Given the description of an element on the screen output the (x, y) to click on. 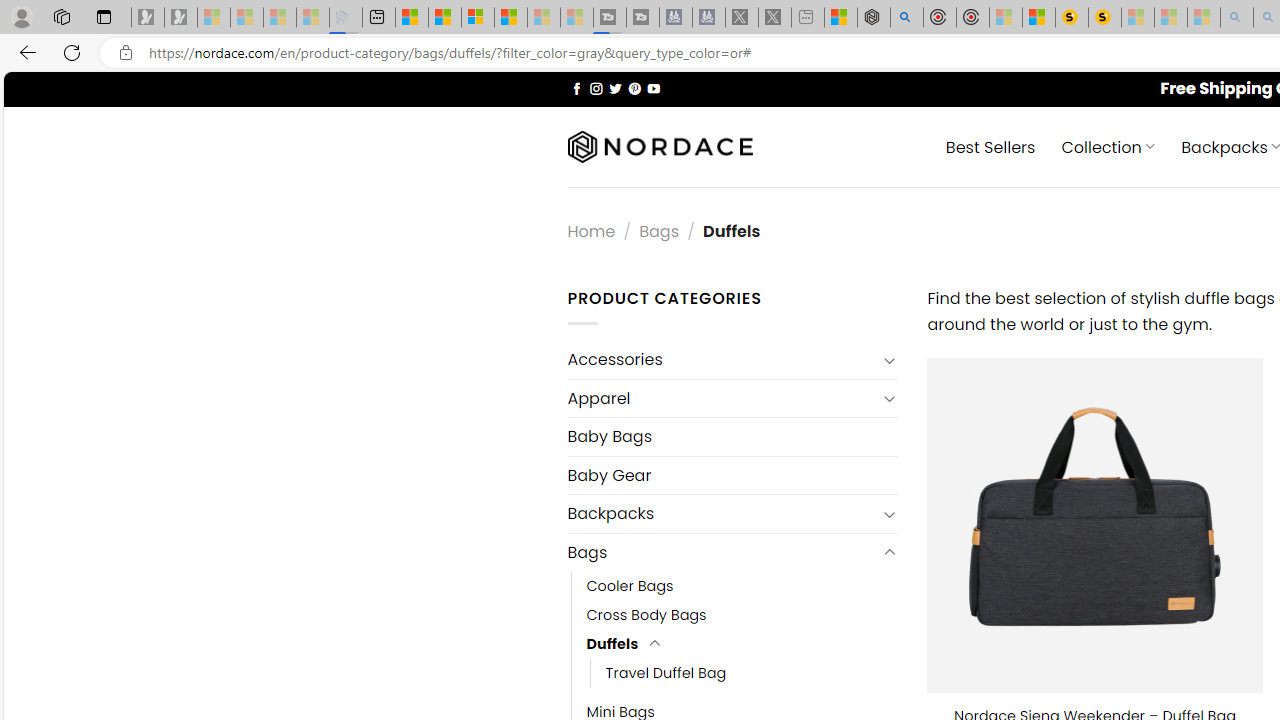
amazon - Search - Sleeping (1237, 17)
Follow on Pinterest (634, 88)
Cooler Bags (742, 585)
Travel Duffel Bag (753, 673)
poe - Search (906, 17)
